Given the description of an element on the screen output the (x, y) to click on. 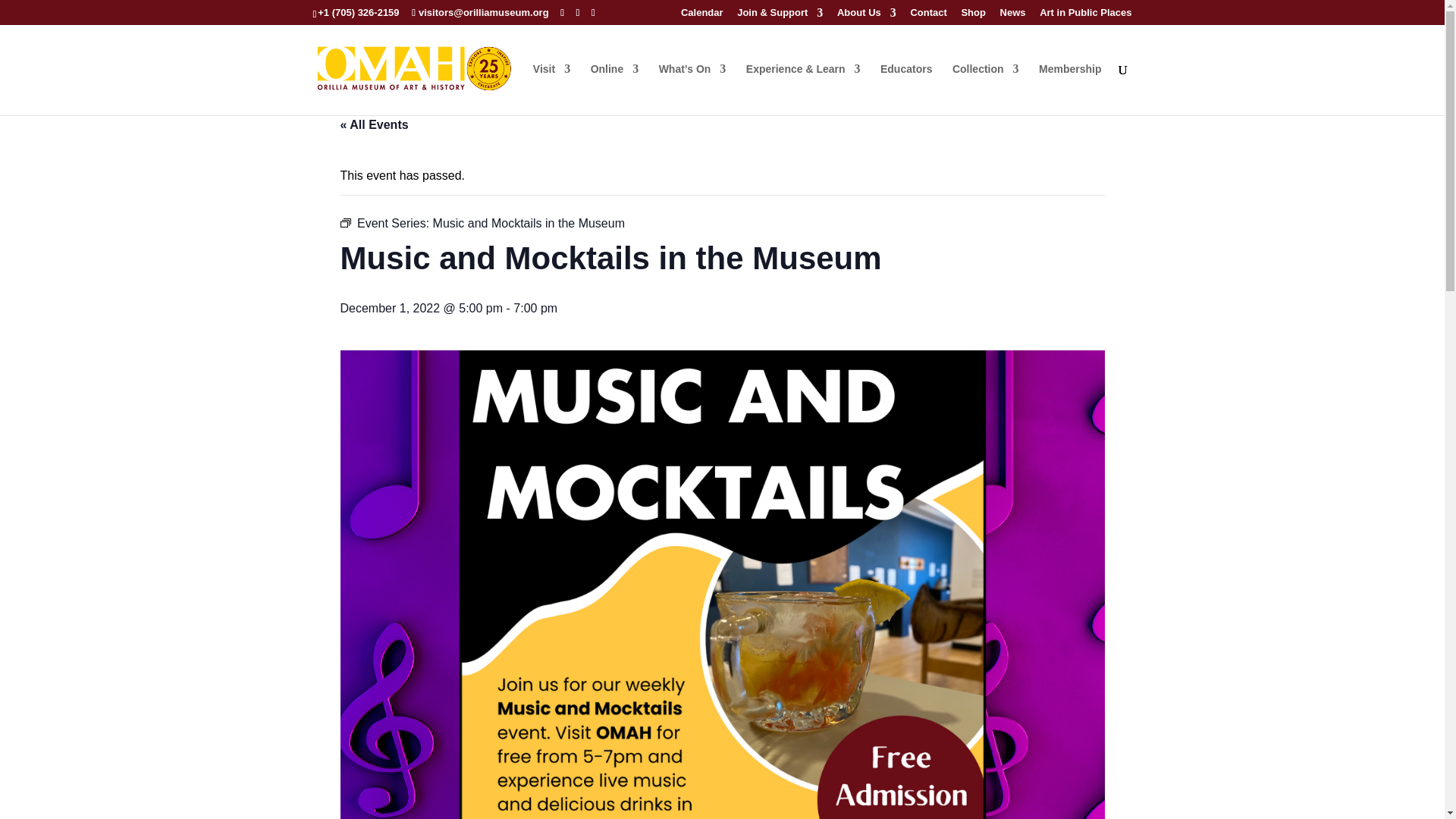
Contact (928, 16)
Shop (972, 16)
News (1013, 16)
Online (615, 89)
Event Series (344, 222)
About Us (866, 16)
Art in Public Places (1085, 16)
Calendar (702, 16)
